Given the description of an element on the screen output the (x, y) to click on. 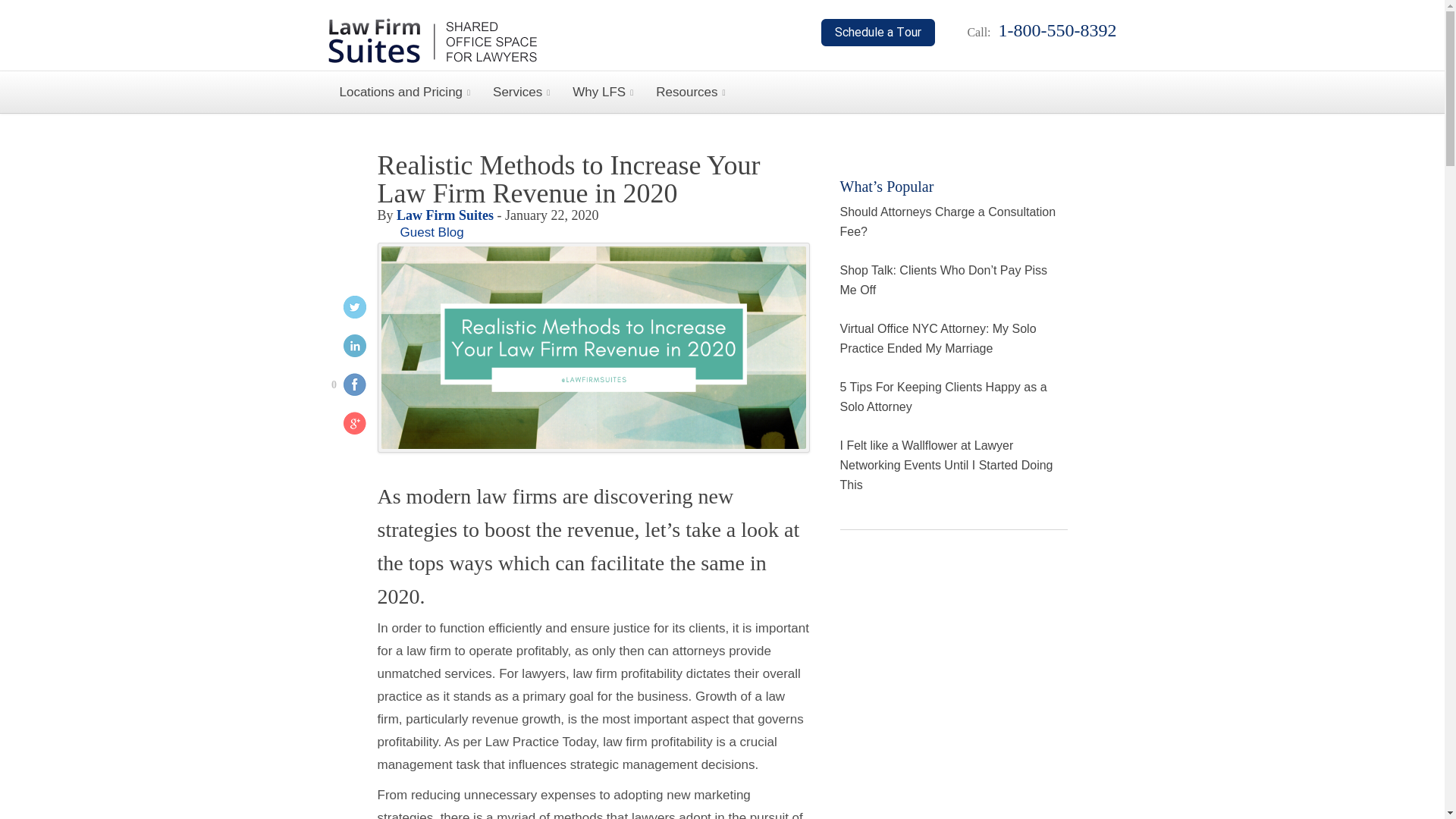
0 (342, 386)
Guest Blog (432, 232)
Should Attorneys Charge a Consultation Fee? (948, 221)
Law Firm Suites (444, 215)
Why LFS (602, 92)
Locations and Pricing (404, 92)
5 Tips For Keeping Clients Happy as a Solo Attorney (943, 396)
Resources (690, 92)
Services (520, 92)
